Given the description of an element on the screen output the (x, y) to click on. 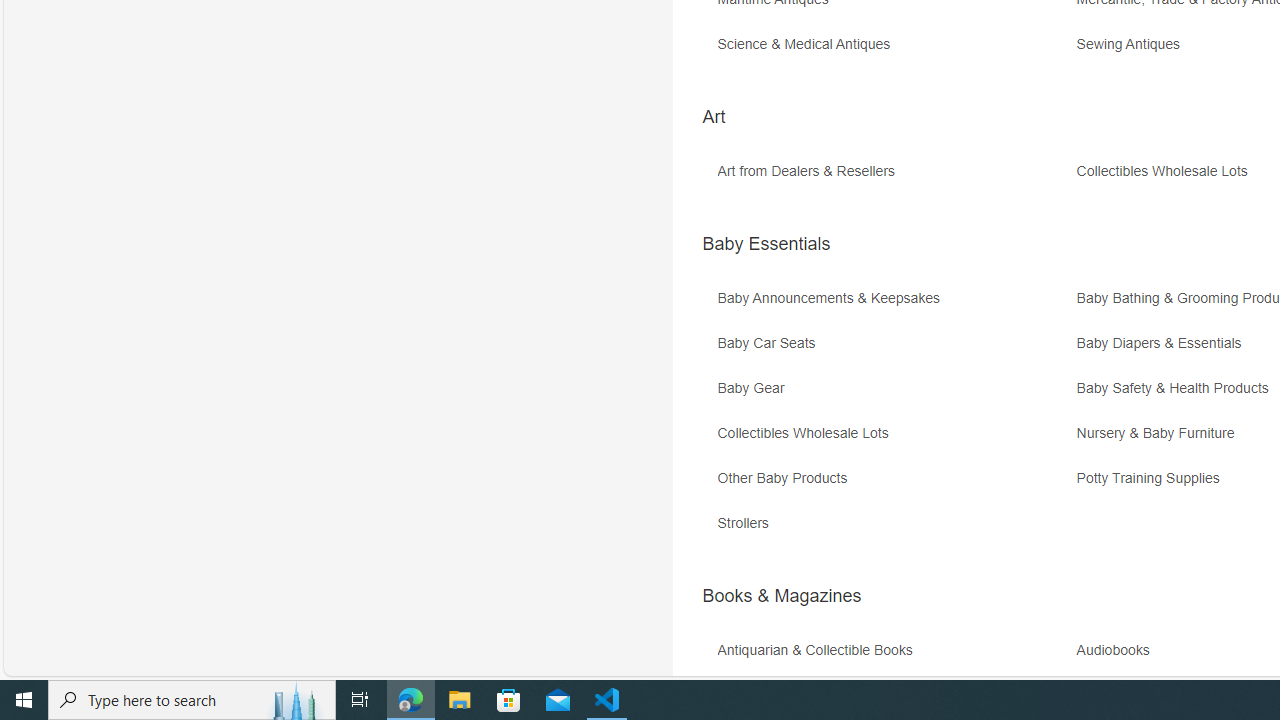
Art from Dealers & Resellers (810, 171)
Antiquarian & Collectible Books (819, 650)
Strollers (894, 529)
Baby Announcements & Keepsakes (833, 298)
Nursery & Baby Furniture (1160, 433)
Sewing Antiques (1133, 43)
Books & Magazines (781, 596)
Baby Gear (755, 388)
Baby Car Seats (894, 349)
Baby Announcements & Keepsakes (894, 305)
Audiobooks (1117, 650)
Collectibles Wholesale Lots (894, 440)
Potty Training Supplies (1153, 478)
Baby Car Seats (770, 343)
Science & Medical Antiques (808, 43)
